Given the description of an element on the screen output the (x, y) to click on. 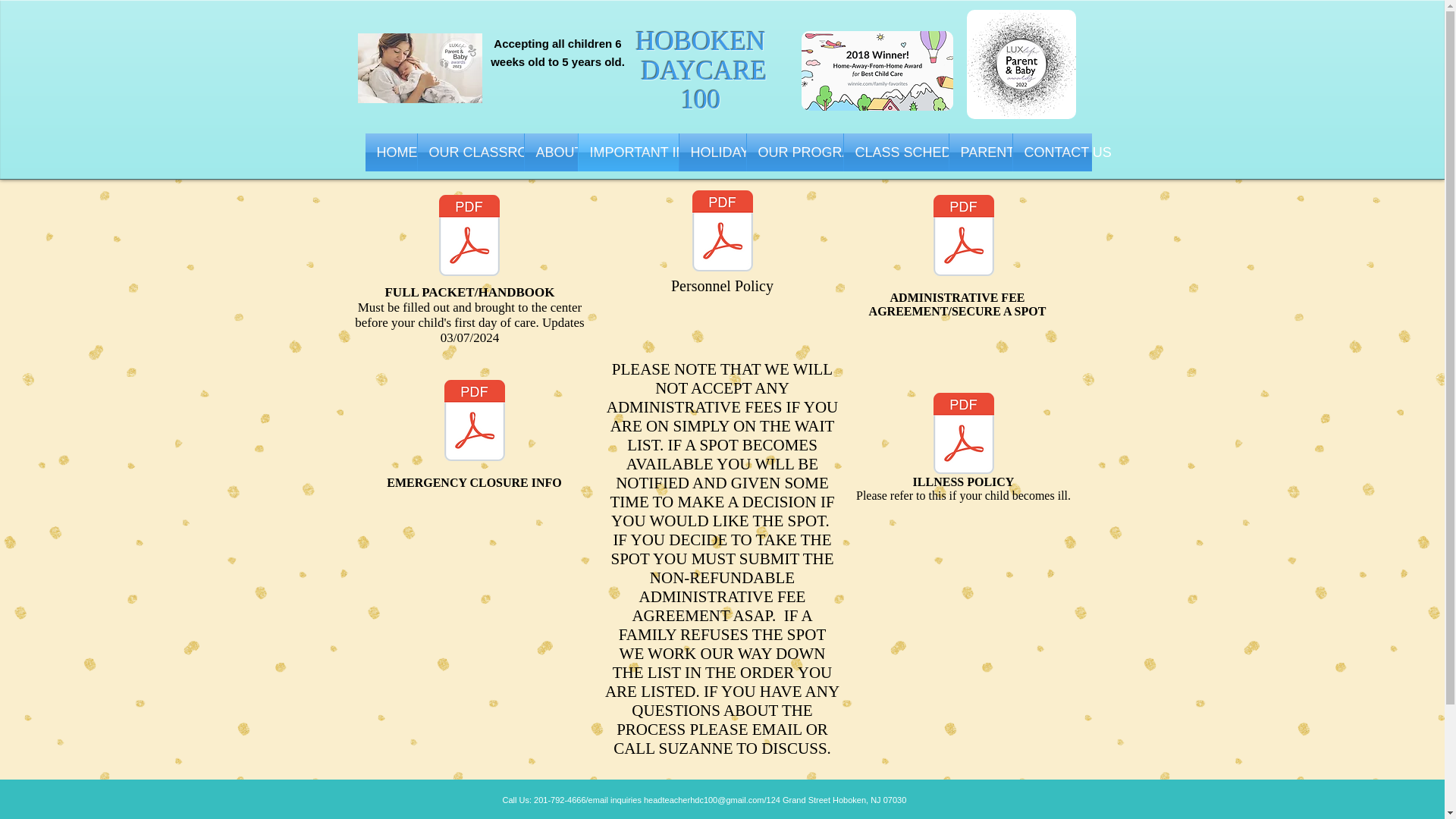
Award2023.webp (419, 68)
PARENTS (980, 152)
OUR CLASSROOMS (469, 152)
IMPORTANT INFO (628, 152)
CLASS SCHEDULES (895, 152)
ABOUT (551, 152)
OUR PROGRAMS (794, 152)
CONTACT US (1052, 152)
HOME (390, 152)
HOLIDAYS (712, 152)
